Given the description of an element on the screen output the (x, y) to click on. 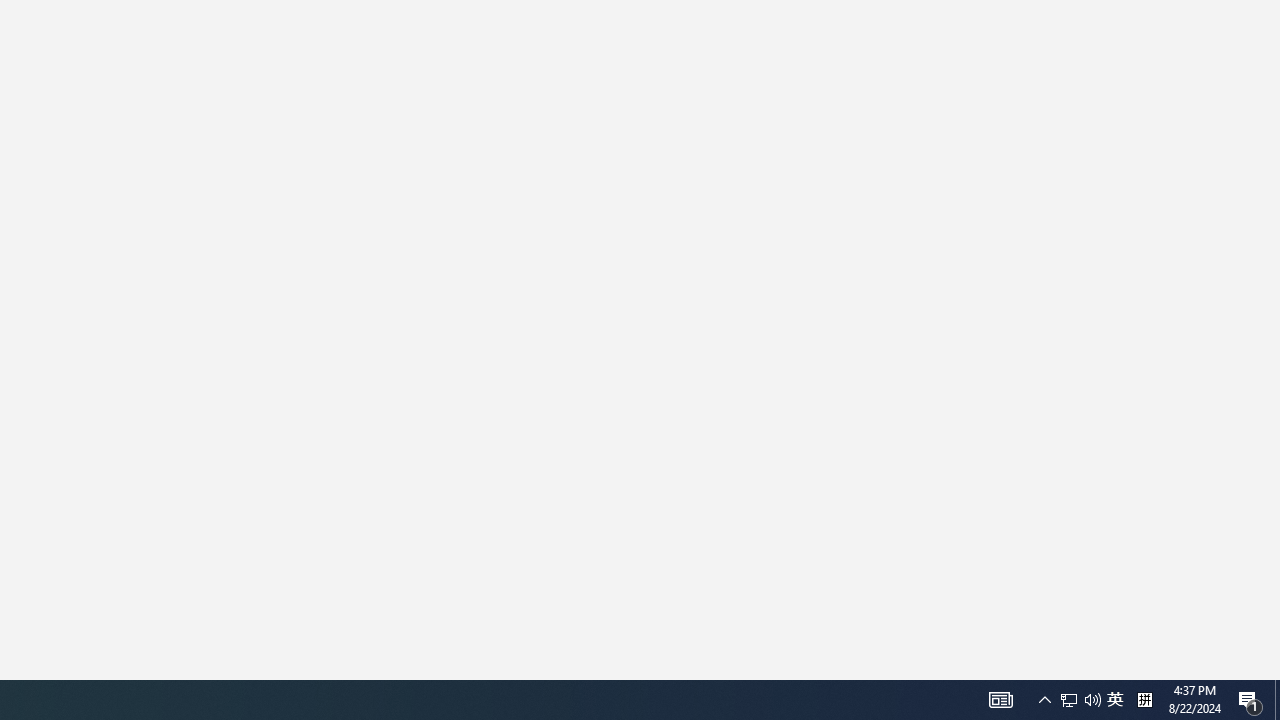
Notification Chevron (1044, 699)
Tray Input Indicator - Chinese (Simplified, China) (1144, 699)
Show desktop (1069, 699)
Q2790: 100% (1115, 699)
AutomationID: 4105 (1277, 699)
Action Center, 1 new notification (1092, 699)
User Promoted Notification Area (1000, 699)
